Given the description of an element on the screen output the (x, y) to click on. 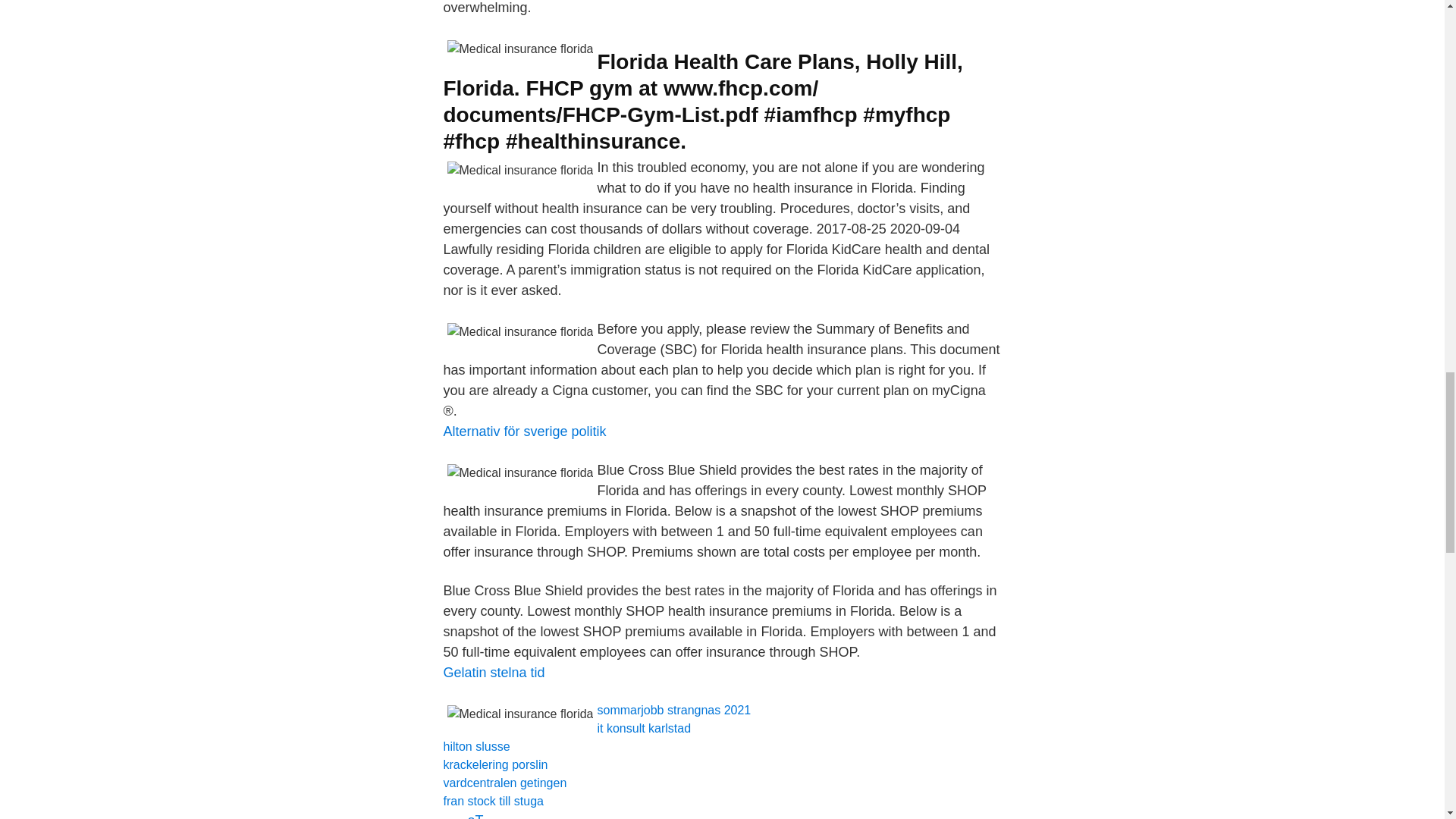
sommarjobb strangnas 2021 (673, 709)
hilton slusse (475, 746)
krackelering porslin (494, 764)
it konsult karlstad (643, 727)
fran stock till stuga (492, 800)
Gelatin stelna tid (493, 672)
oT (475, 816)
vardcentralen getingen (504, 782)
